Given the description of an element on the screen output the (x, y) to click on. 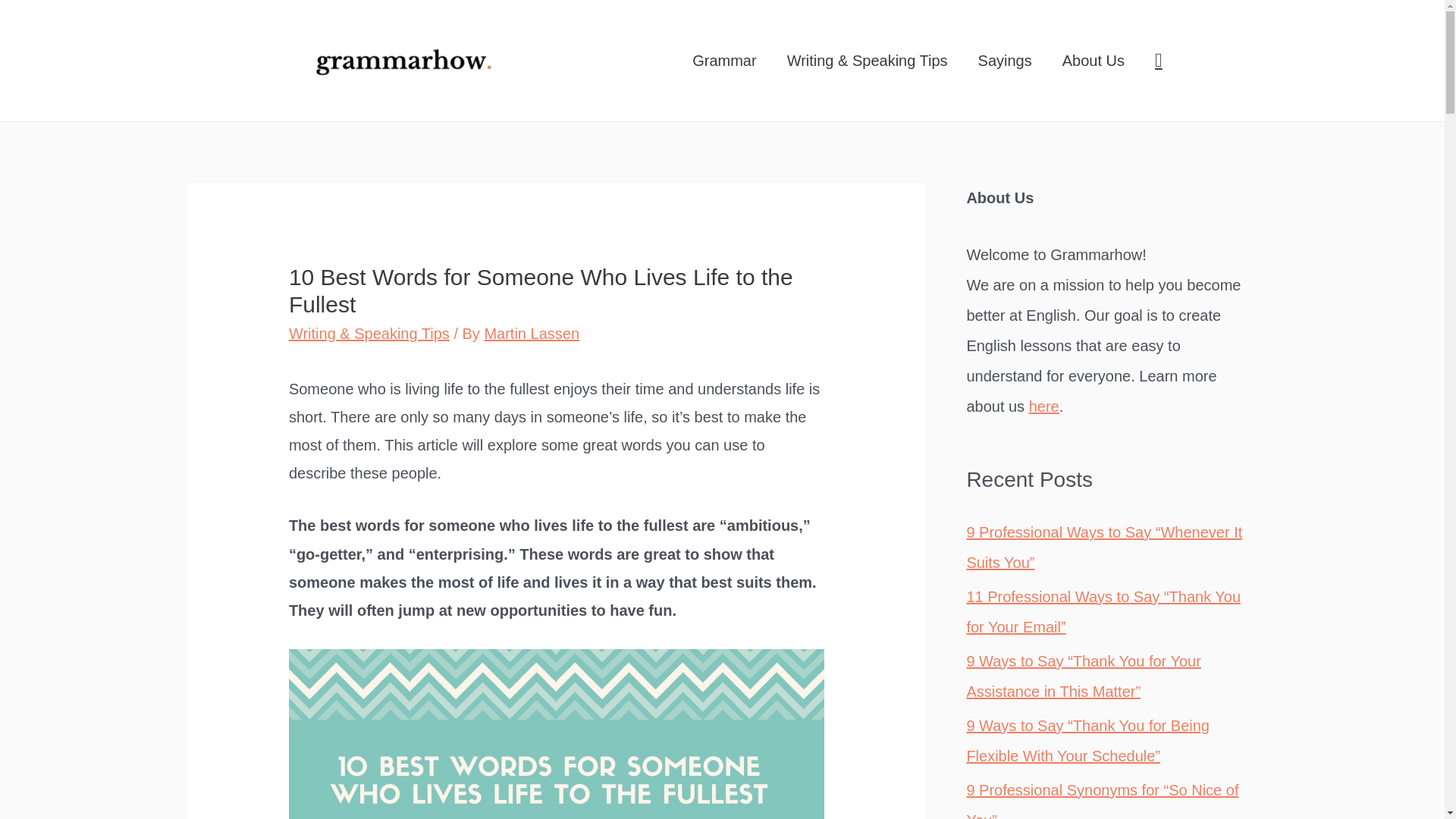
View all posts by Martin Lassen (531, 333)
here (1044, 406)
Martin Lassen (531, 333)
